Given the description of an element on the screen output the (x, y) to click on. 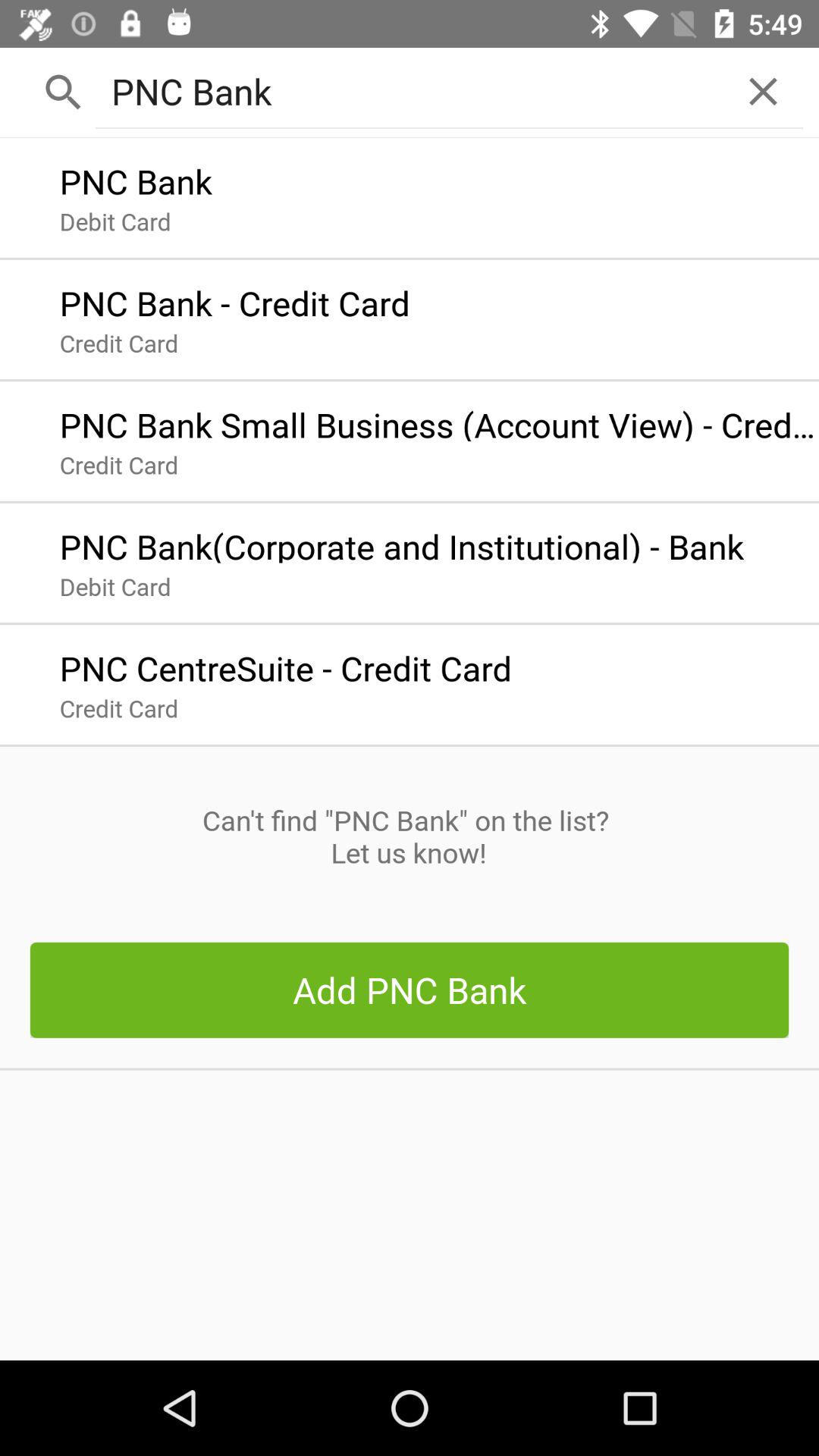
press the item to the right of the pnc bank icon (763, 91)
